Given the description of an element on the screen output the (x, y) to click on. 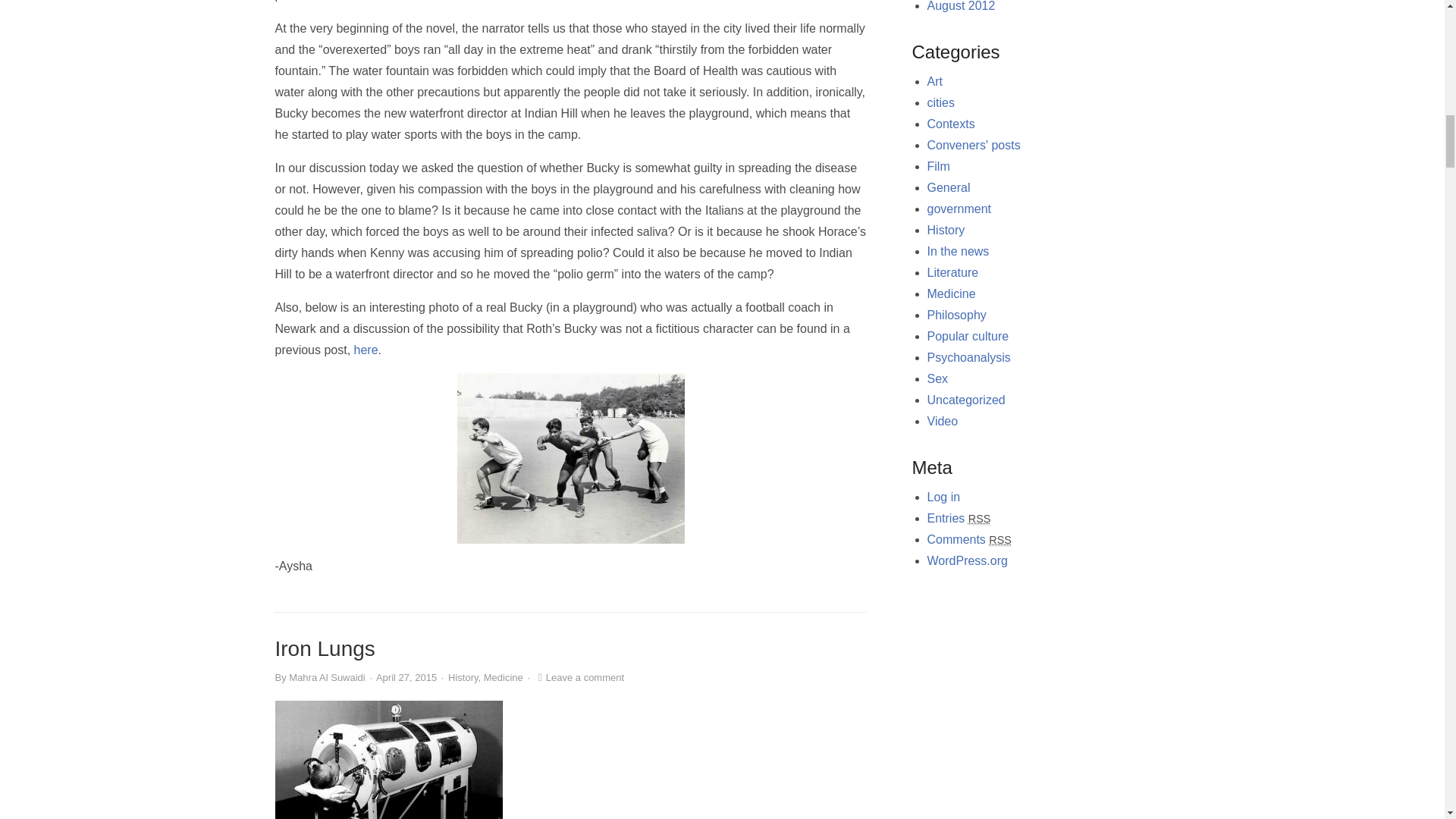
Medicine (502, 677)
History (462, 677)
here (365, 349)
Permanent Link to Iron Lungs (324, 648)
Mahra Al Suwaidi (326, 677)
Posts by Mahra Al Suwaidi (326, 677)
Leave a comment (579, 677)
Iron Lungs (324, 648)
